Given the description of an element on the screen output the (x, y) to click on. 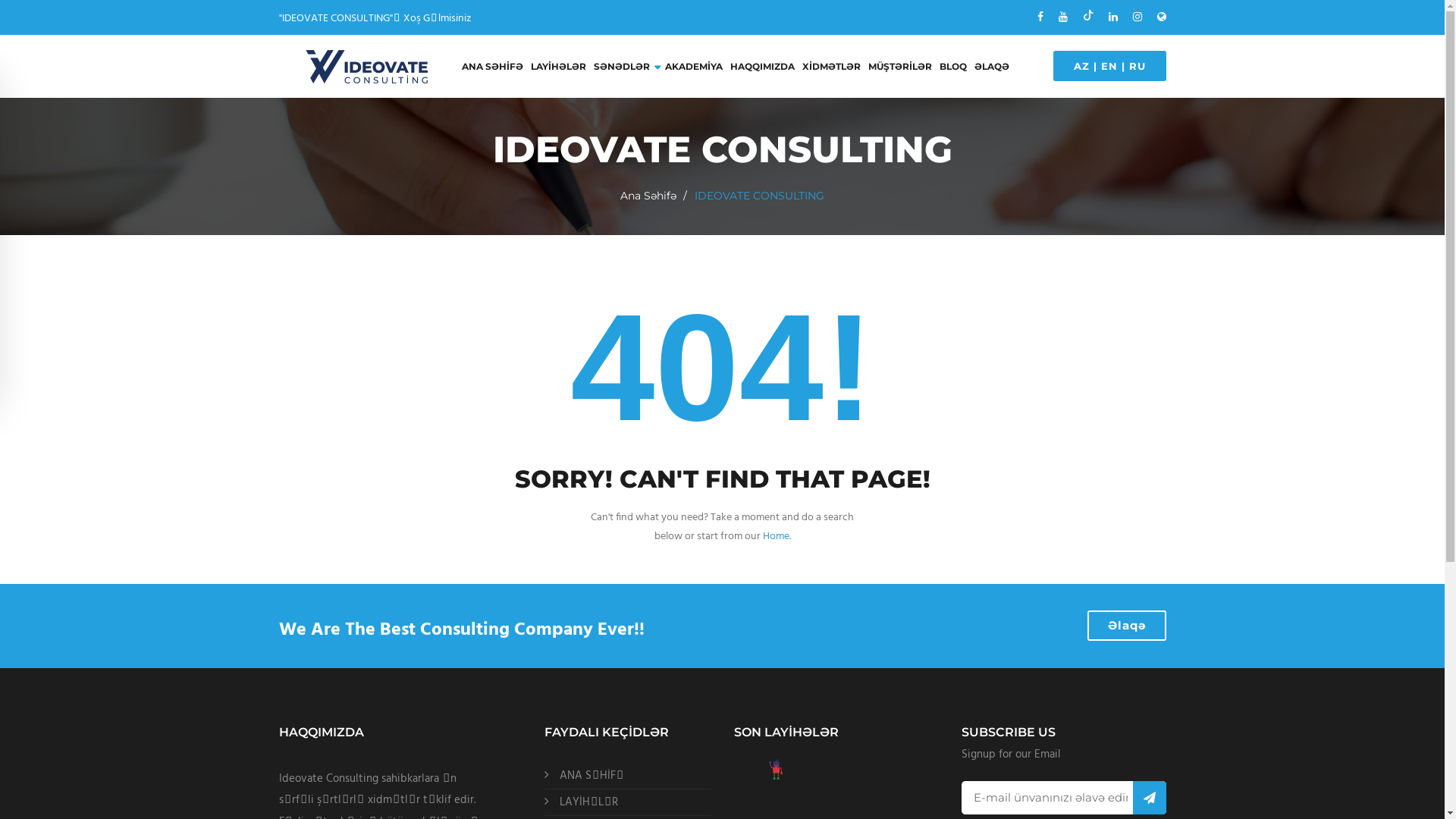
facebook Element type: hover (1040, 17)
Home. Element type: text (776, 536)
HAQQIMIZDA Element type: text (761, 66)
tiktok Element type: hover (1087, 16)
instagram Element type: hover (1137, 17)
RU Element type: text (1136, 65)
linkedin Element type: hover (1112, 17)
AZ Element type: text (1081, 65)
IDEOVATE CONSULTING Element type: hover (1161, 17)
IDEOVATE CONSULTING Element type: hover (366, 66)
BLOQ Element type: text (952, 66)
YouTube Element type: hover (1062, 17)
EN Element type: text (1109, 65)
